Given the description of an element on the screen output the (x, y) to click on. 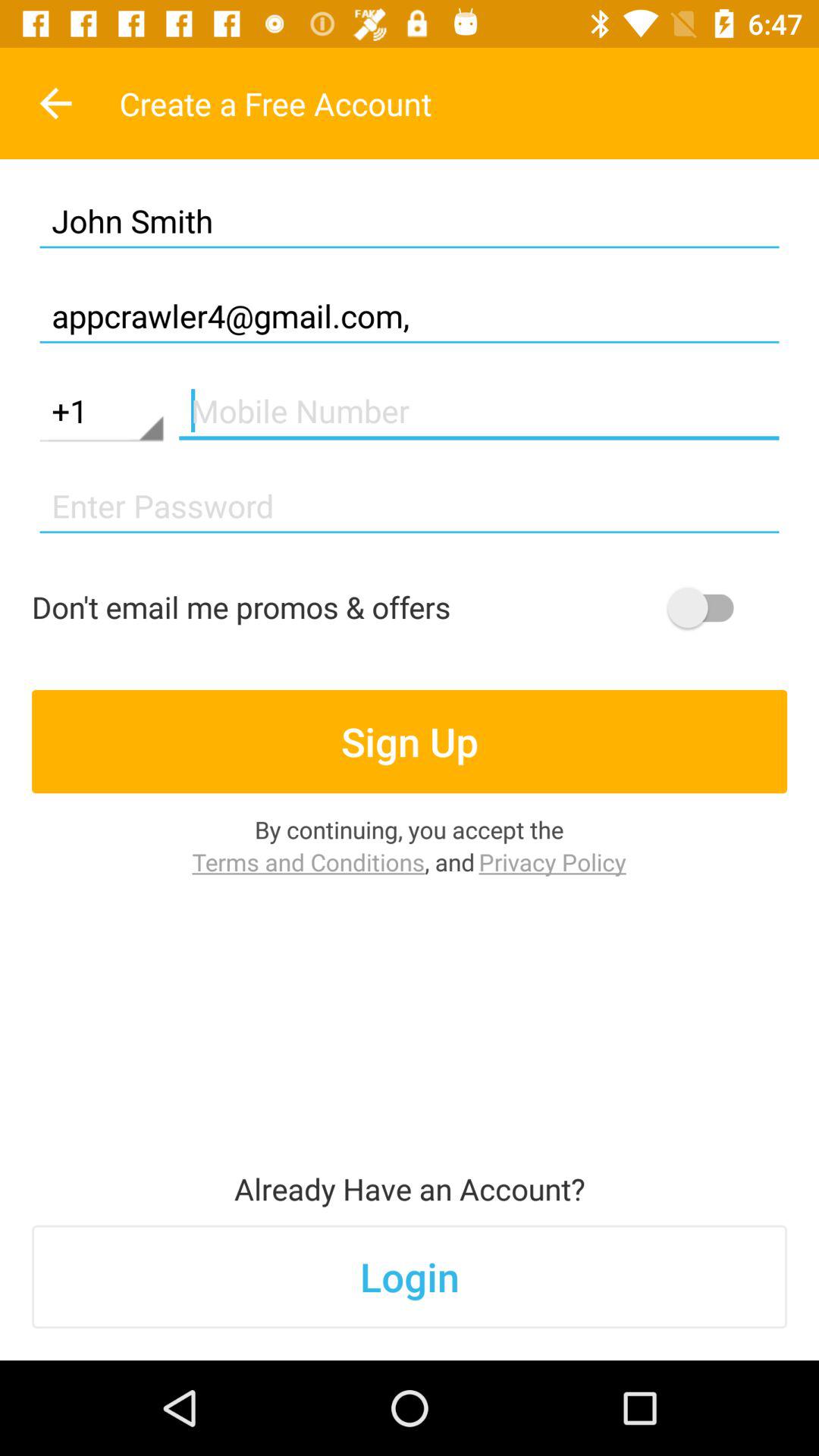
my number (479, 411)
